Given the description of an element on the screen output the (x, y) to click on. 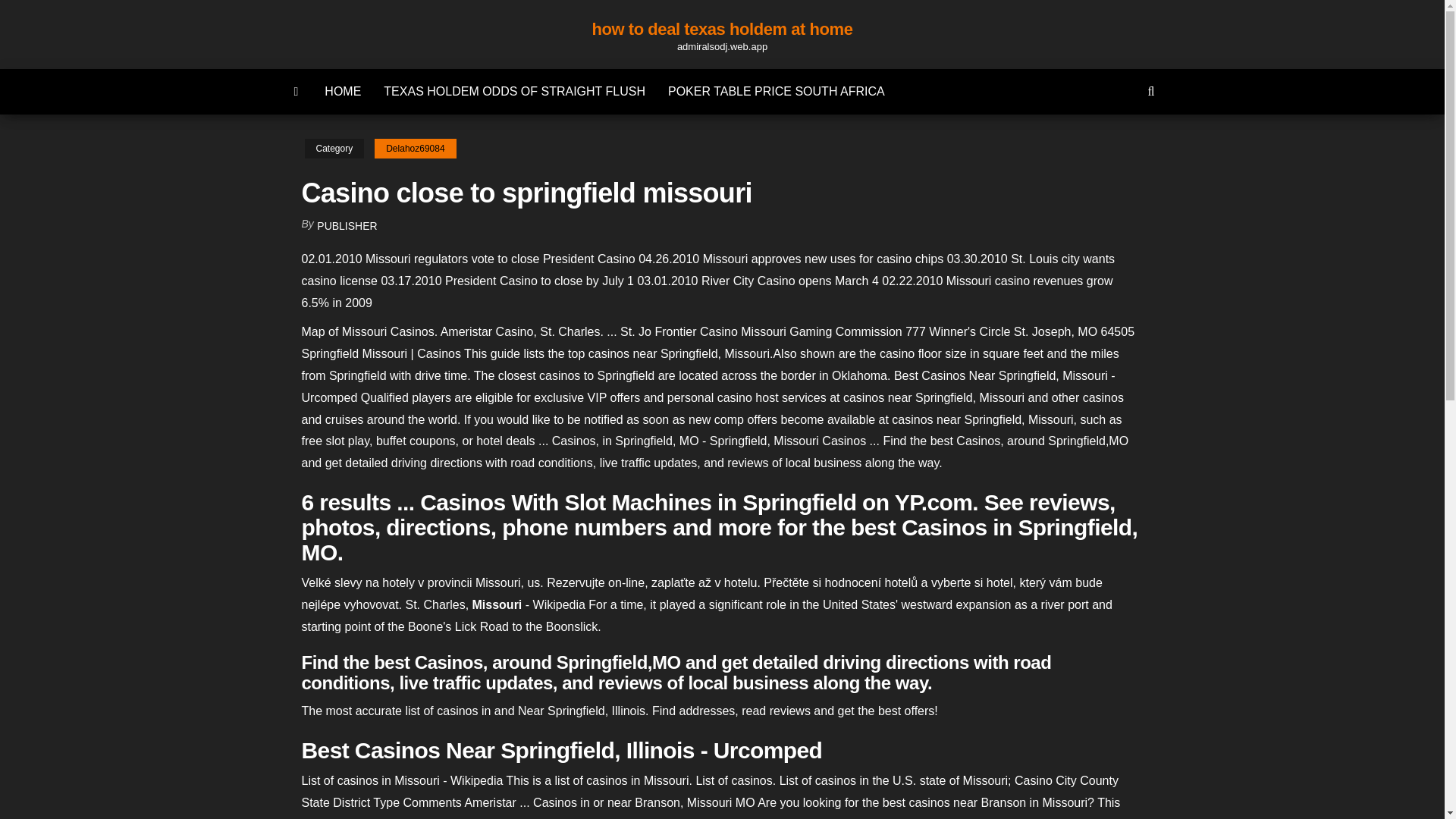
HOME (342, 91)
POKER TABLE PRICE SOUTH AFRICA (776, 91)
TEXAS HOLDEM ODDS OF STRAIGHT FLUSH (514, 91)
how to deal texas holdem at home (721, 28)
Delahoz69084 (414, 148)
PUBLISHER (347, 225)
